Given the description of an element on the screen output the (x, y) to click on. 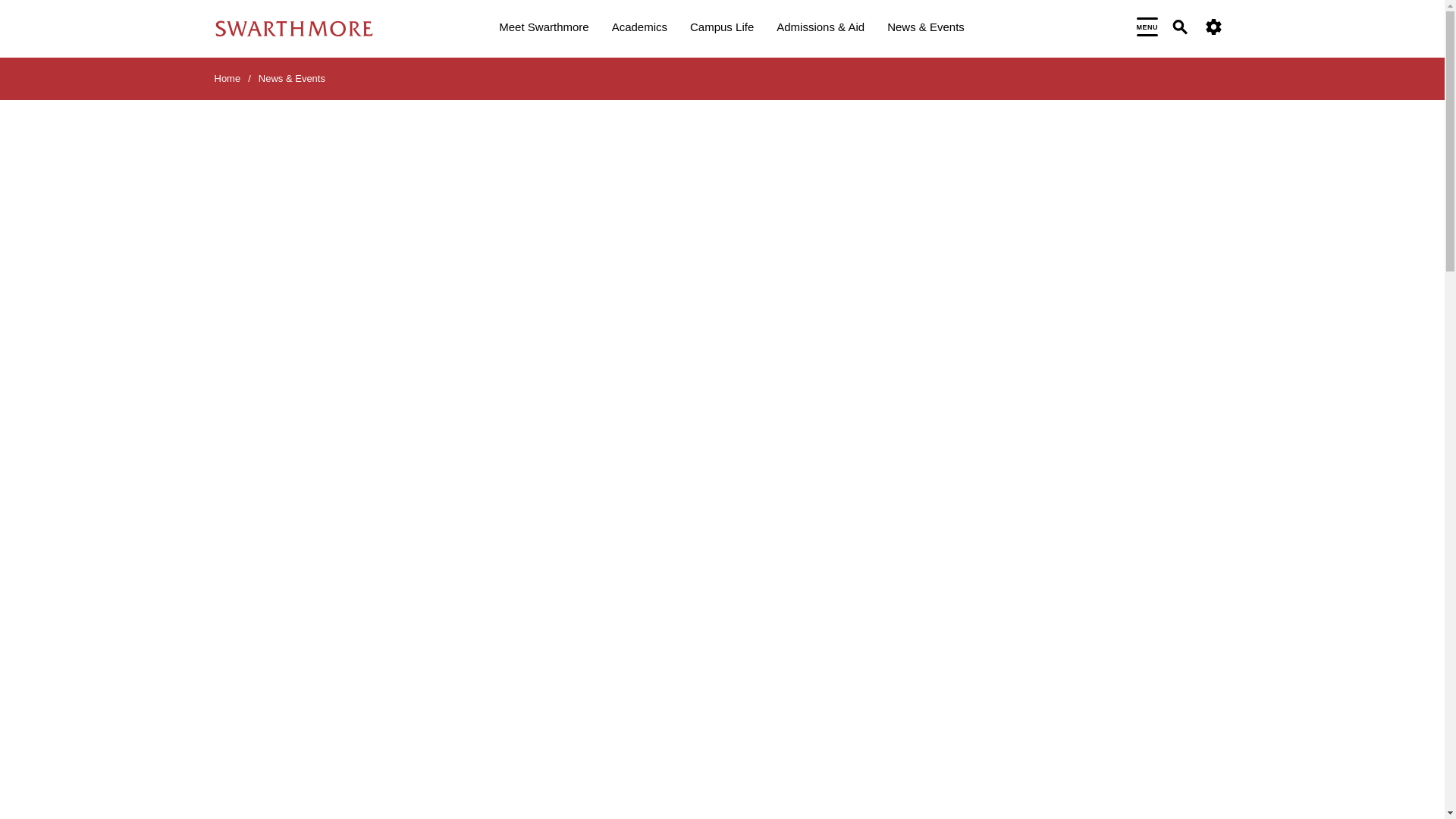
Campus Life (722, 28)
Academics (638, 28)
Meet Swarthmore (543, 28)
